Given the description of an element on the screen output the (x, y) to click on. 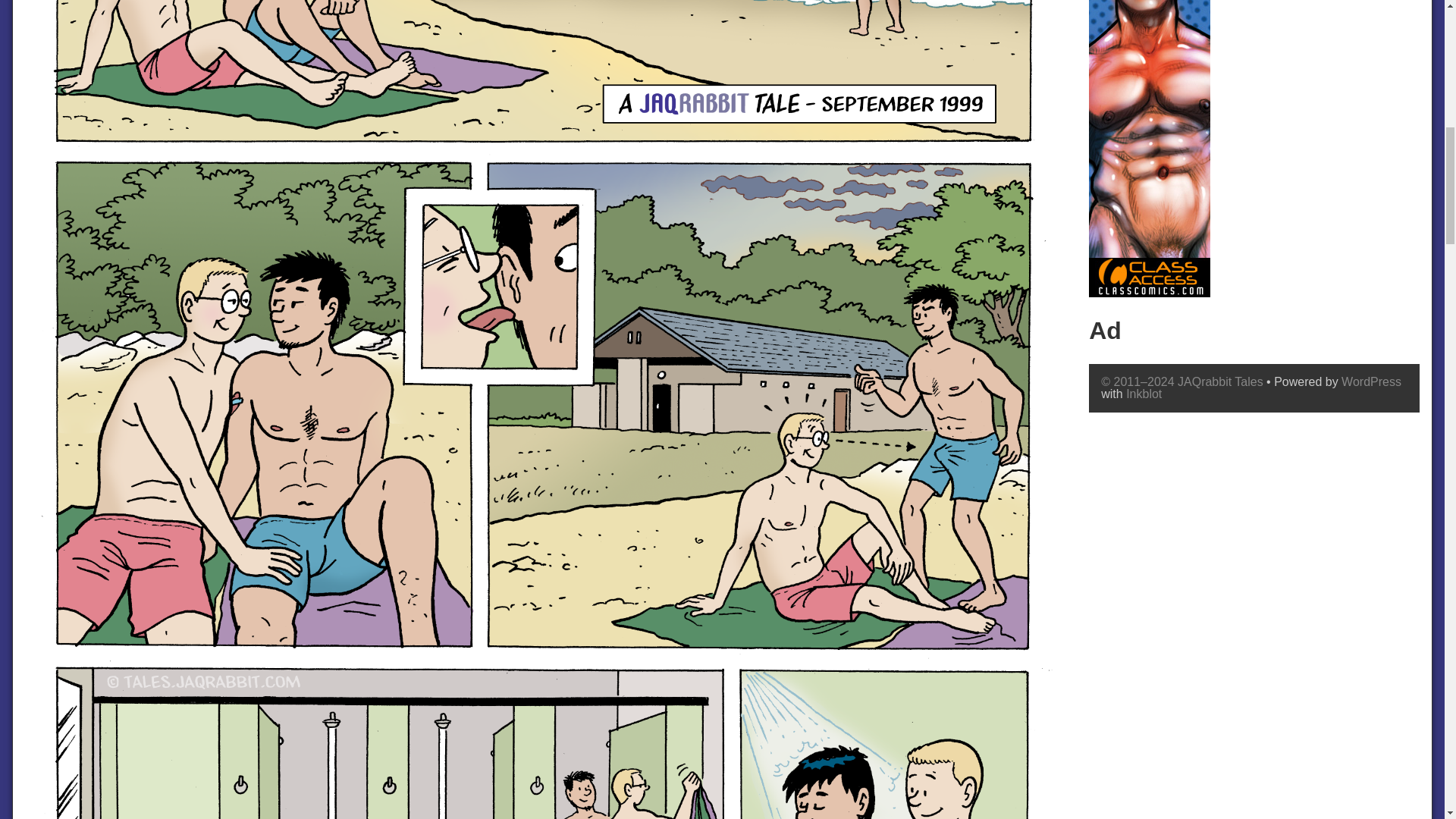
WordPress (1370, 381)
Inkblot (1143, 393)
